Given the description of an element on the screen output the (x, y) to click on. 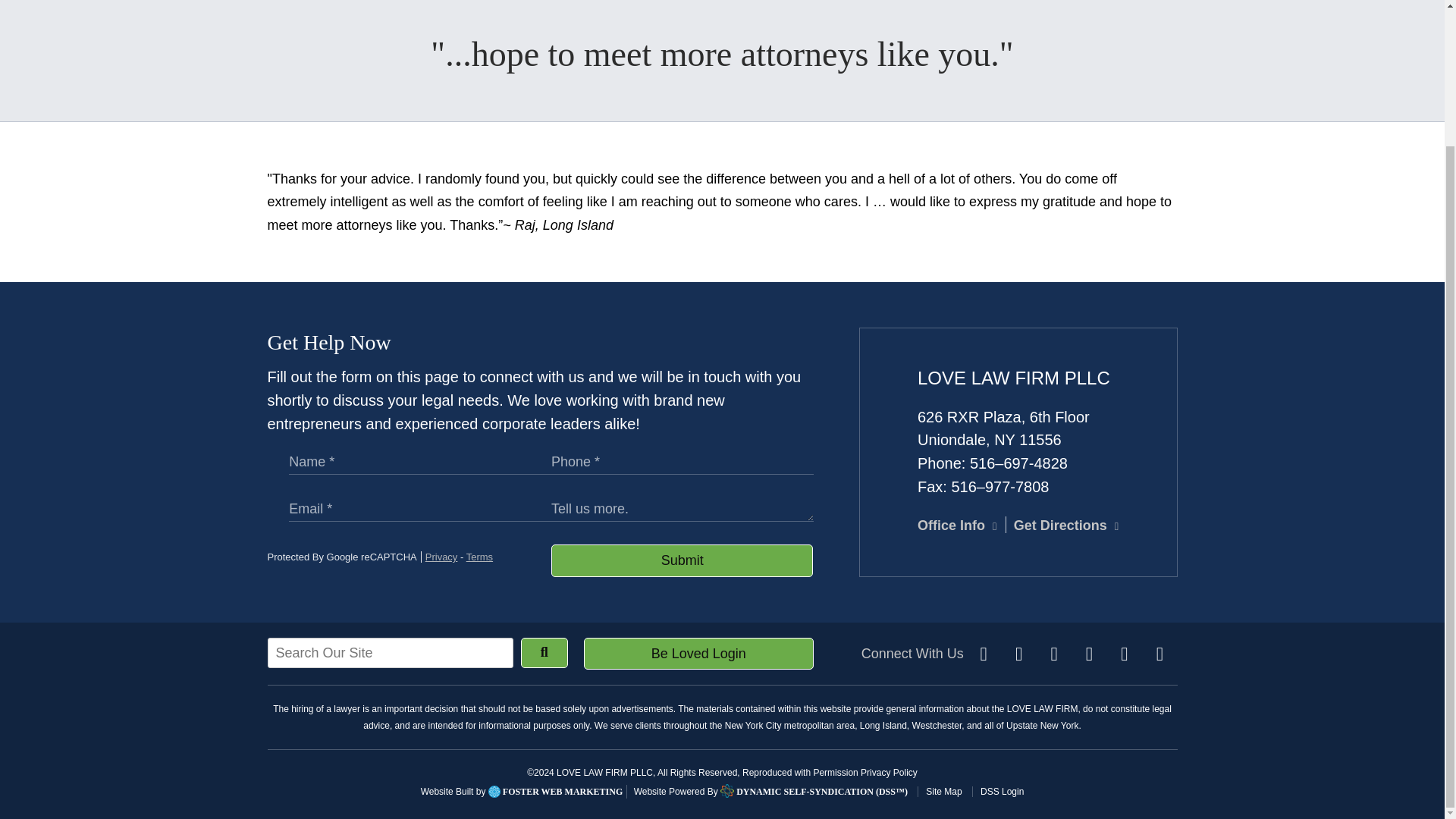
Privacy (441, 556)
Terms (479, 556)
Get Directions (1065, 525)
Submit (682, 560)
Search (544, 653)
Office Info (956, 525)
